Given the description of an element on the screen output the (x, y) to click on. 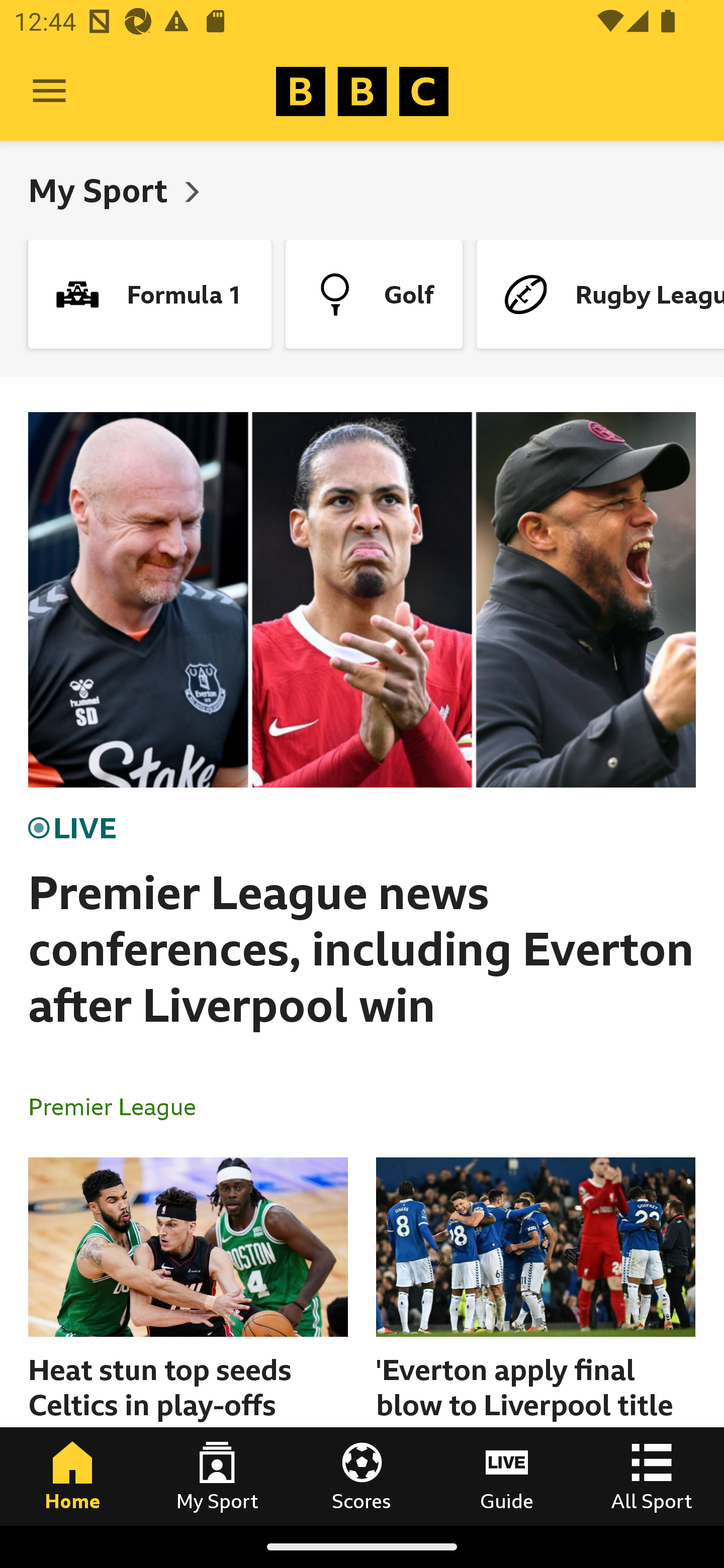
Open Menu (49, 91)
My Sport (101, 190)
Premier League In the section Premier League (119, 1106)
My Sport (216, 1475)
Scores (361, 1475)
Guide (506, 1475)
All Sport (651, 1475)
